Given the description of an element on the screen output the (x, y) to click on. 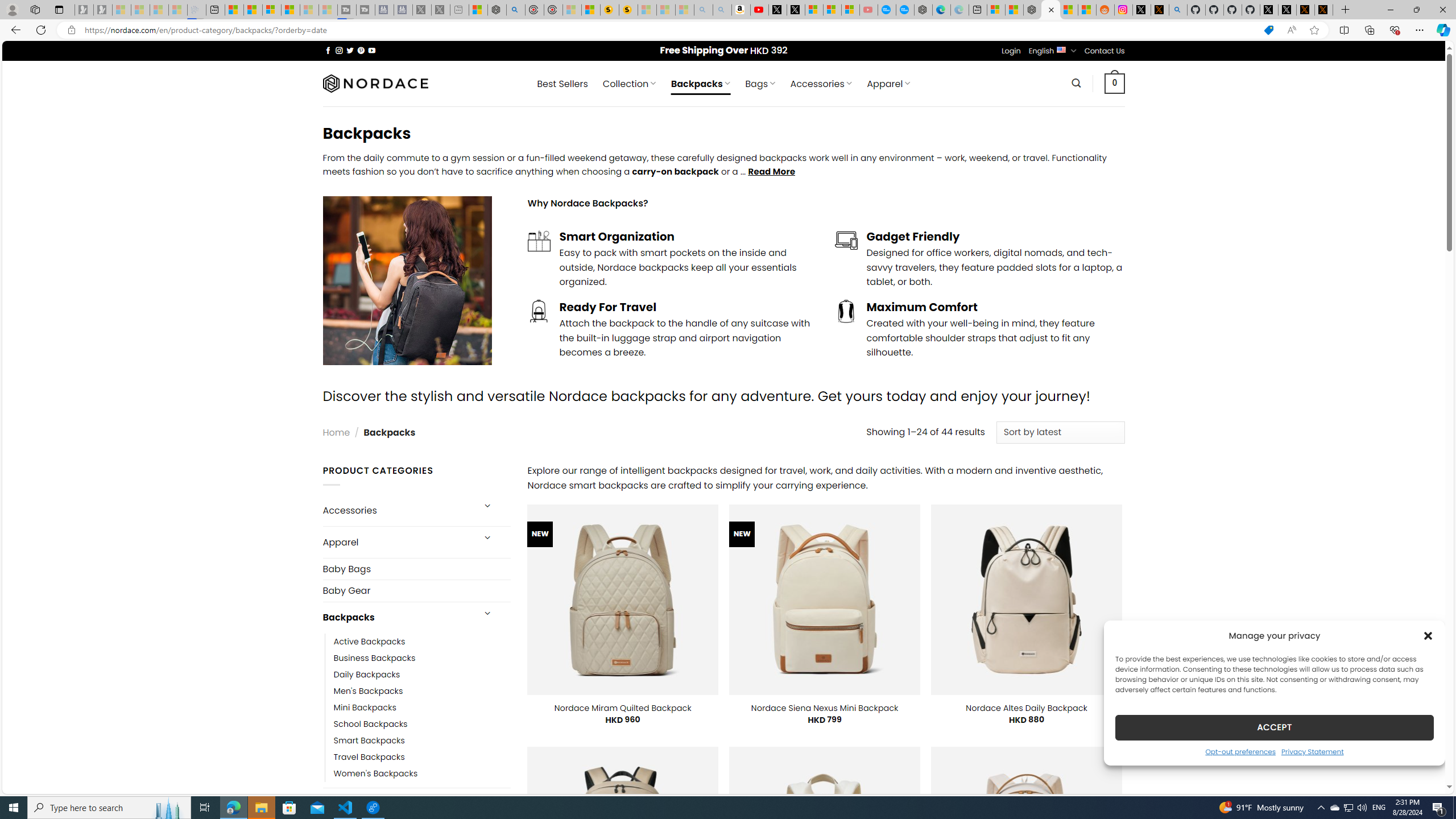
Opt-out preferences (1240, 750)
Men's Backpacks (422, 690)
Microsoft Start - Sleeping (309, 9)
Nordace - Nordace has arrived Hong Kong (923, 9)
Daily Backpacks (366, 674)
Baby Gear (416, 590)
help.x.com | 524: A timeout occurred (1159, 9)
Business Backpacks (422, 657)
X - Sleeping (440, 9)
